Given the description of an element on the screen output the (x, y) to click on. 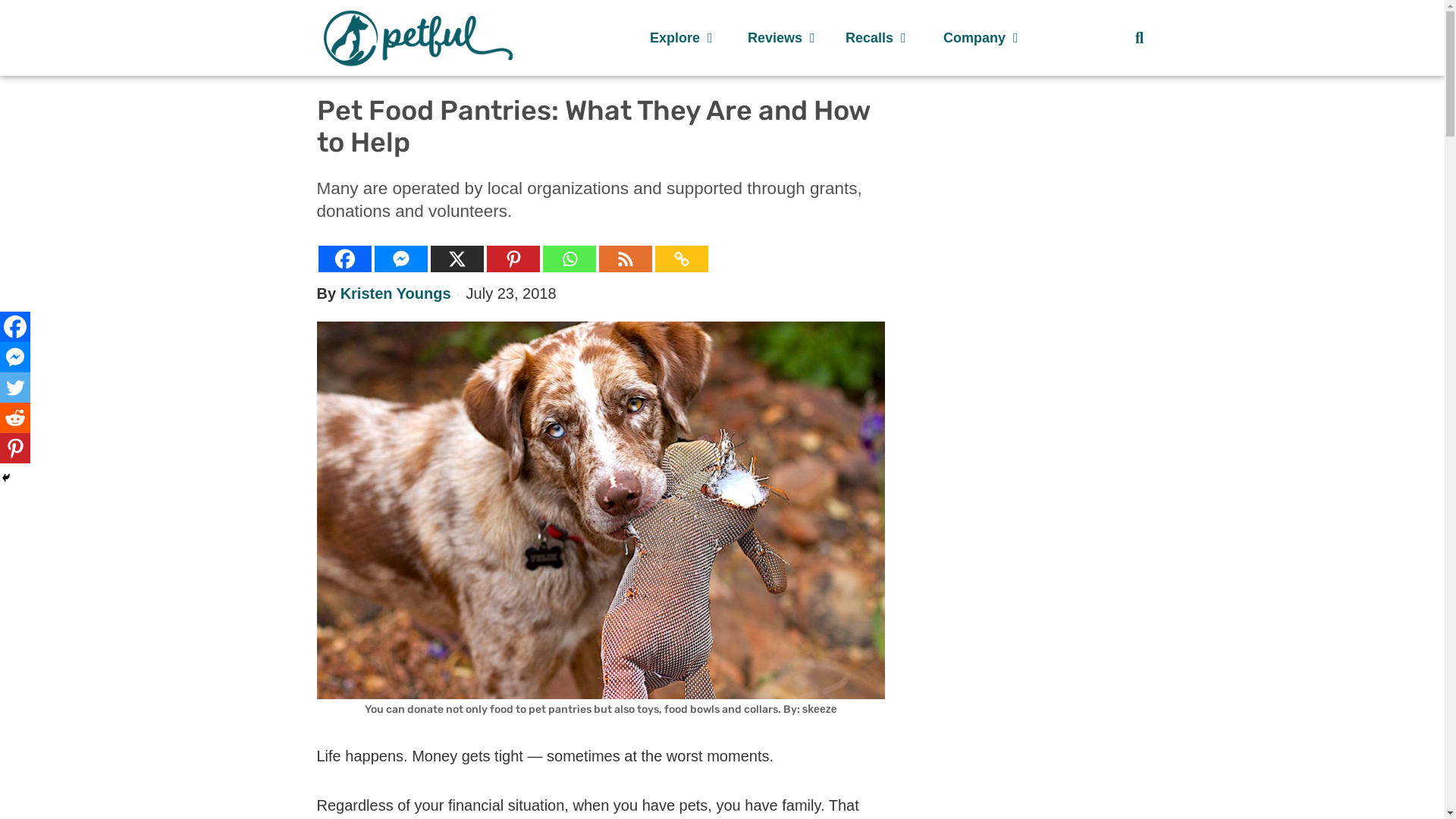
X (456, 258)
Company (977, 38)
Copy Link (681, 258)
Pinterest (513, 258)
Facebook (15, 327)
Reddit (15, 417)
Whatsapp (569, 258)
Recalls (878, 38)
Hide (5, 477)
Twitter (15, 387)
RSS Feed (625, 258)
Facebook (344, 258)
Reviews (780, 38)
Explore (683, 38)
Pinterest (15, 448)
